Given the description of an element on the screen output the (x, y) to click on. 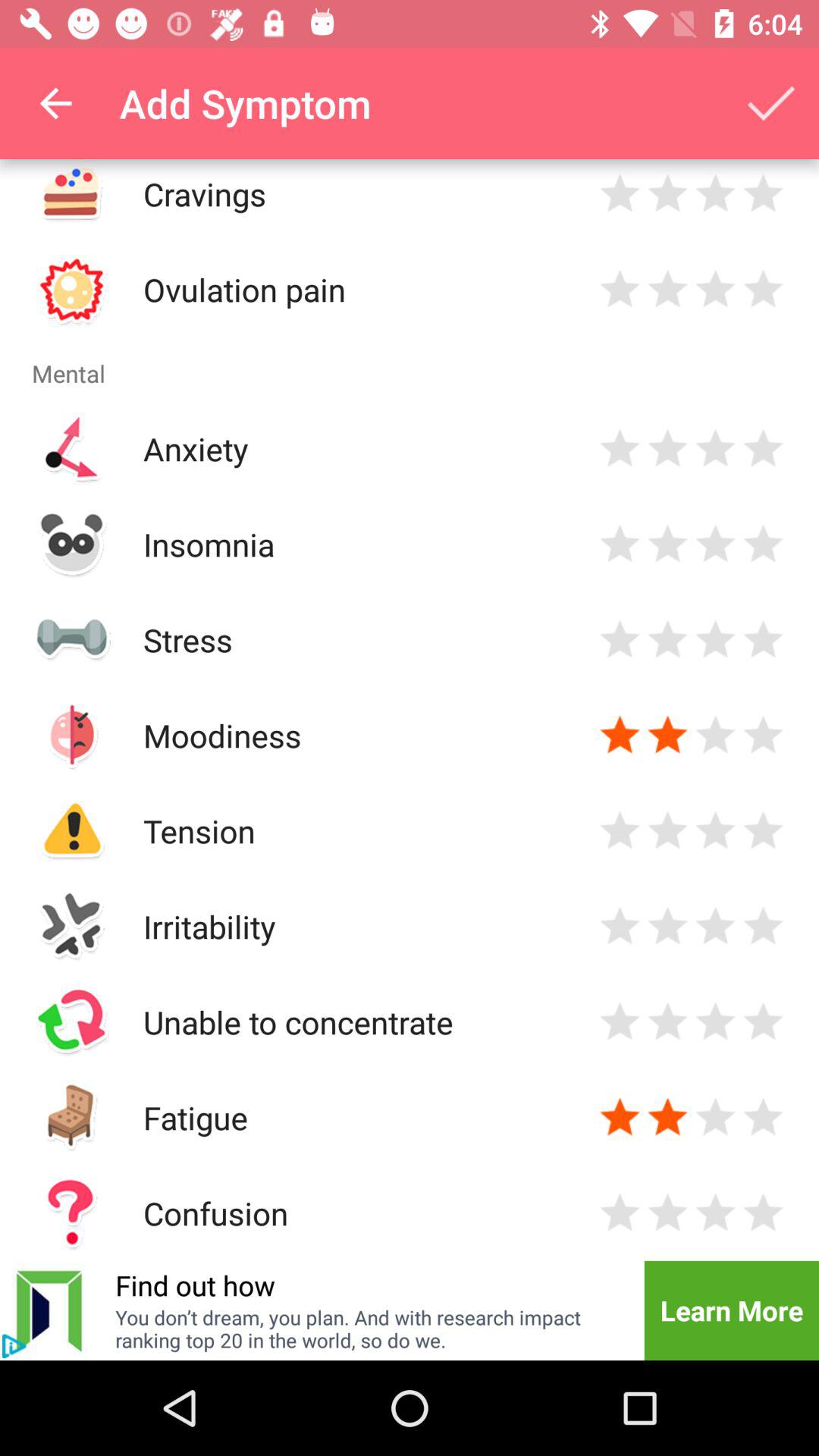
extra information of advertisement (14, 1346)
